Given the description of an element on the screen output the (x, y) to click on. 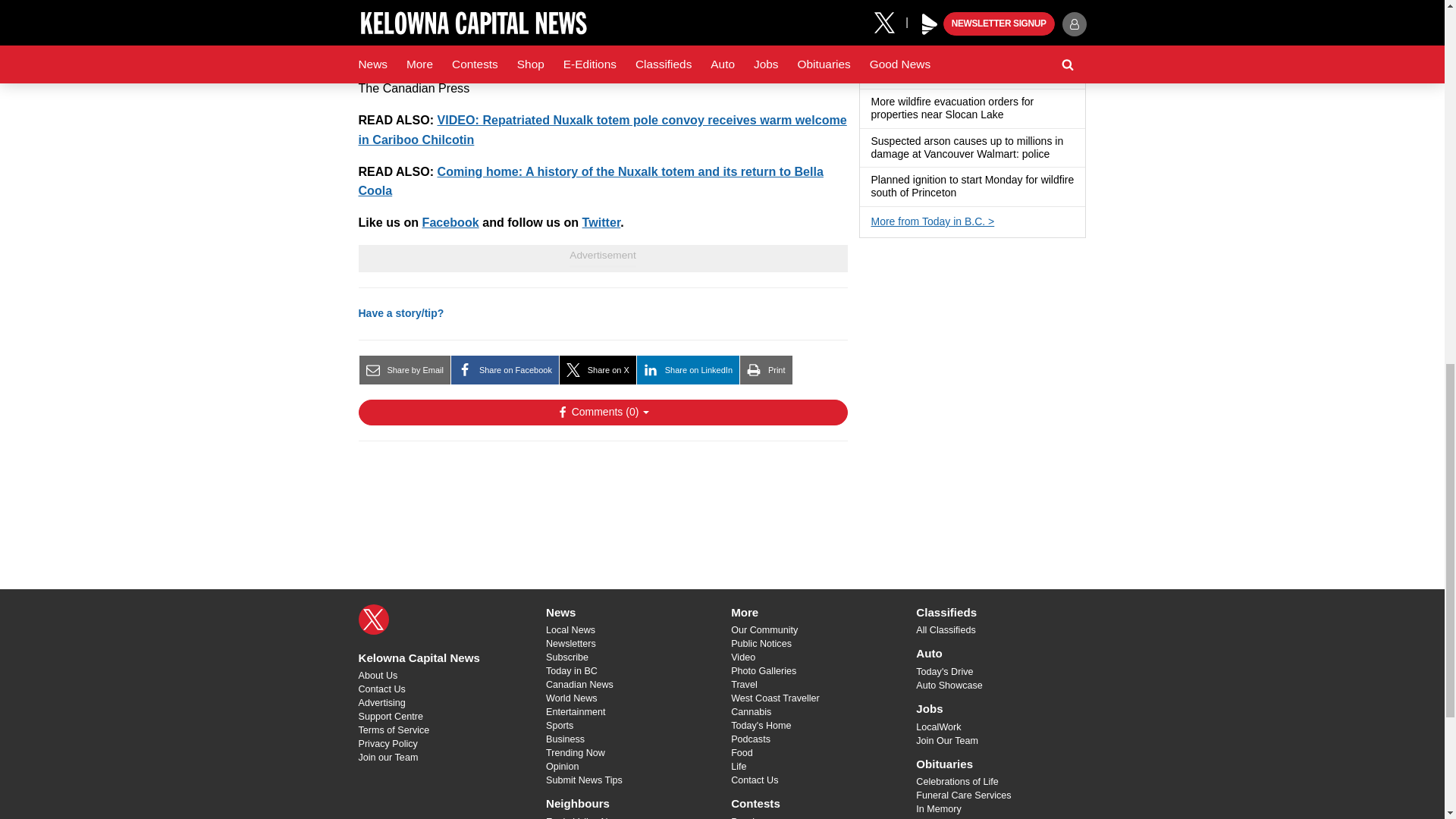
Has a gallery (959, 36)
Show Comments (602, 412)
X (373, 619)
Has a gallery (1027, 75)
